Given the description of an element on the screen output the (x, y) to click on. 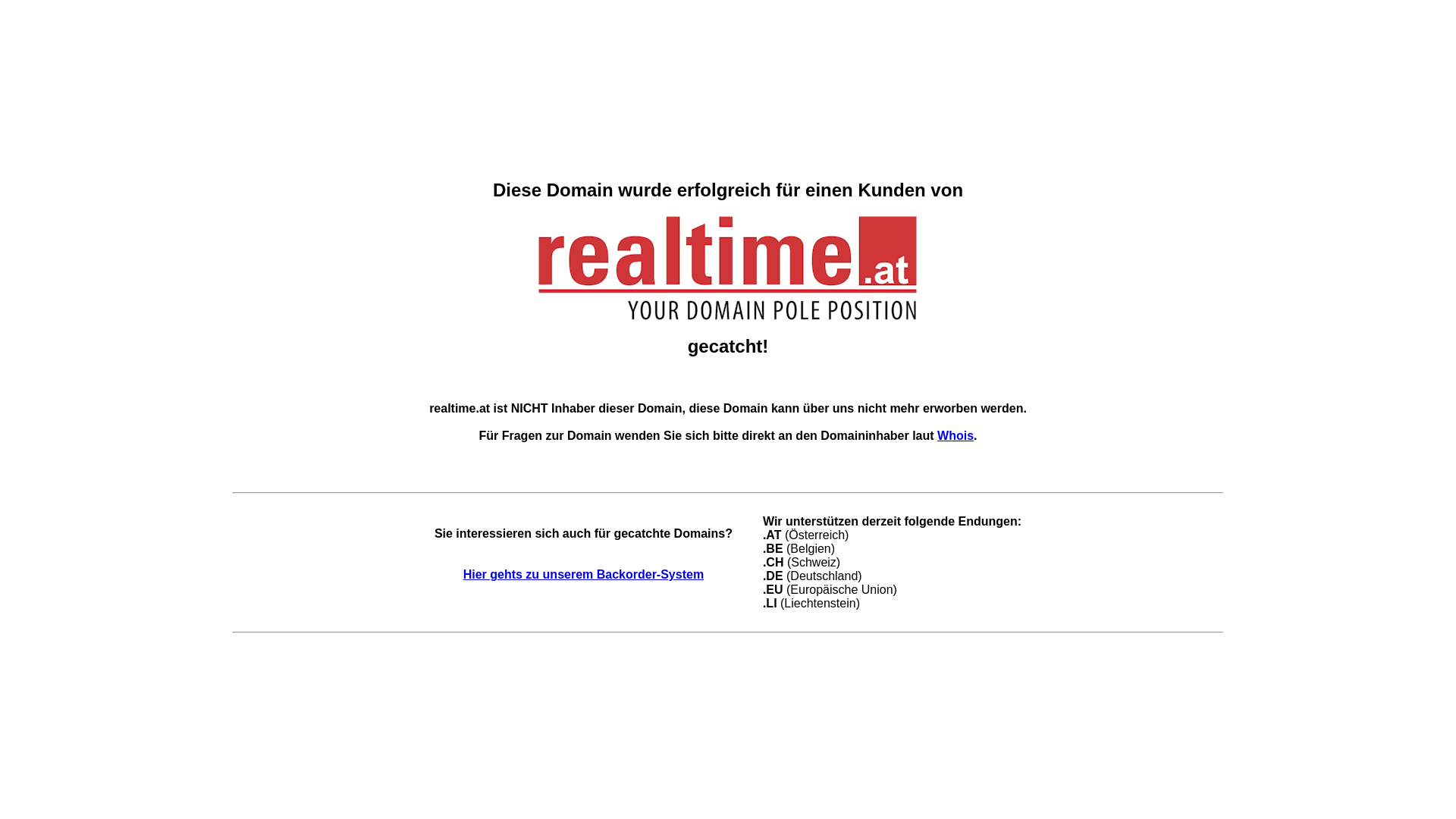
Whois Element type: text (955, 435)
Hier gehts zu unserem Backorder-System Element type: text (583, 573)
